Given the description of an element on the screen output the (x, y) to click on. 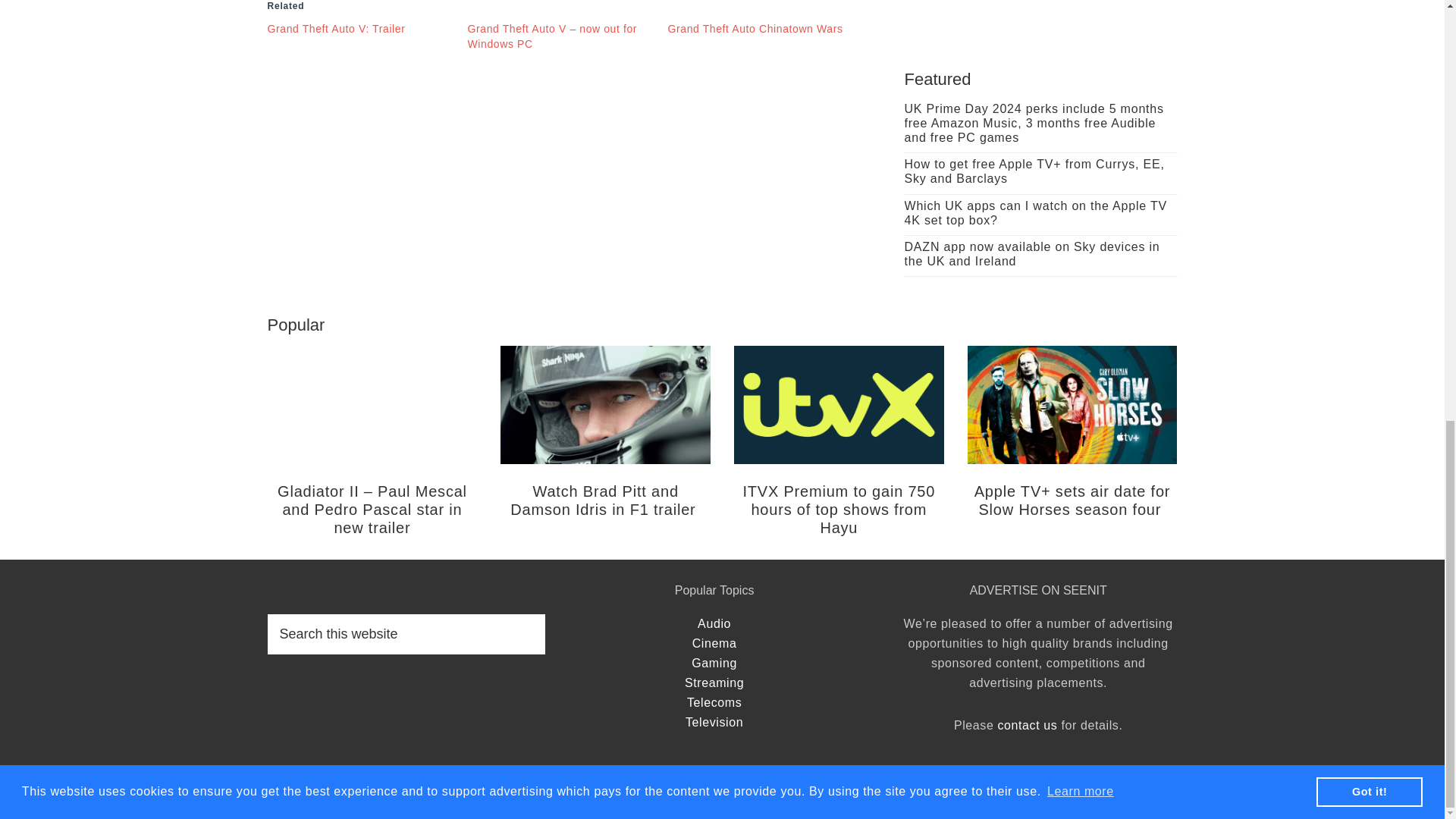
Grand Theft Auto Chinatown Wars (754, 28)
Advertisement (1040, 12)
Audio (713, 623)
DAZN app now available on Sky devices in the UK and Ireland (1031, 253)
Grand Theft Auto Chinatown Wars (754, 28)
Which UK apps can I watch on the Apple TV 4K set top box?  (1035, 212)
Grand Theft Auto V: Trailer (335, 28)
DAZN app now available on Sky devices in the UK and Ireland (1031, 253)
Grand Theft Auto V: Trailer (335, 28)
Cinema (714, 643)
